Given the description of an element on the screen output the (x, y) to click on. 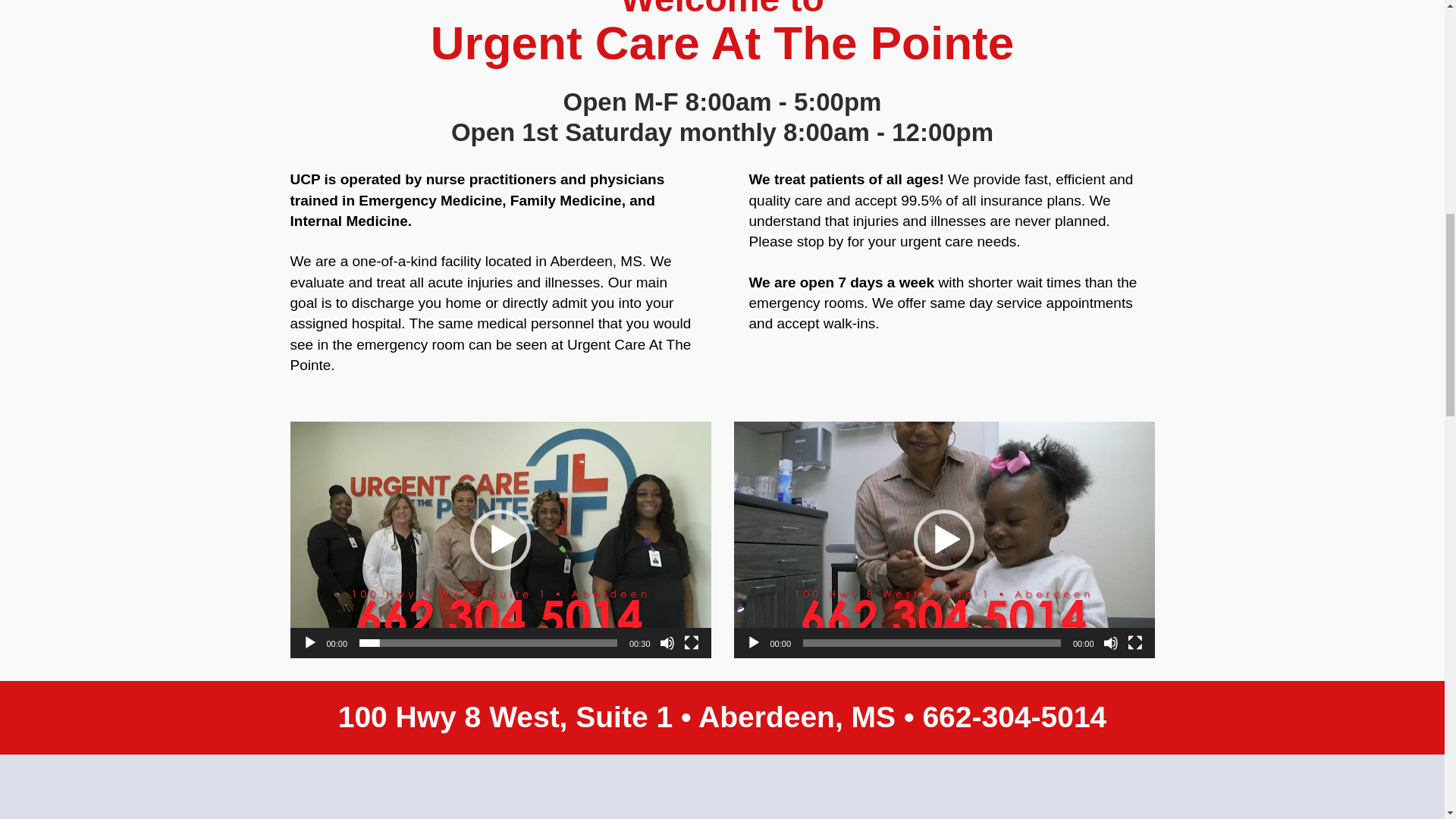
Mute (667, 642)
Play (753, 642)
Play (309, 642)
Fullscreen (691, 642)
Mute (1110, 642)
Fullscreen (1133, 642)
